Given the description of an element on the screen output the (x, y) to click on. 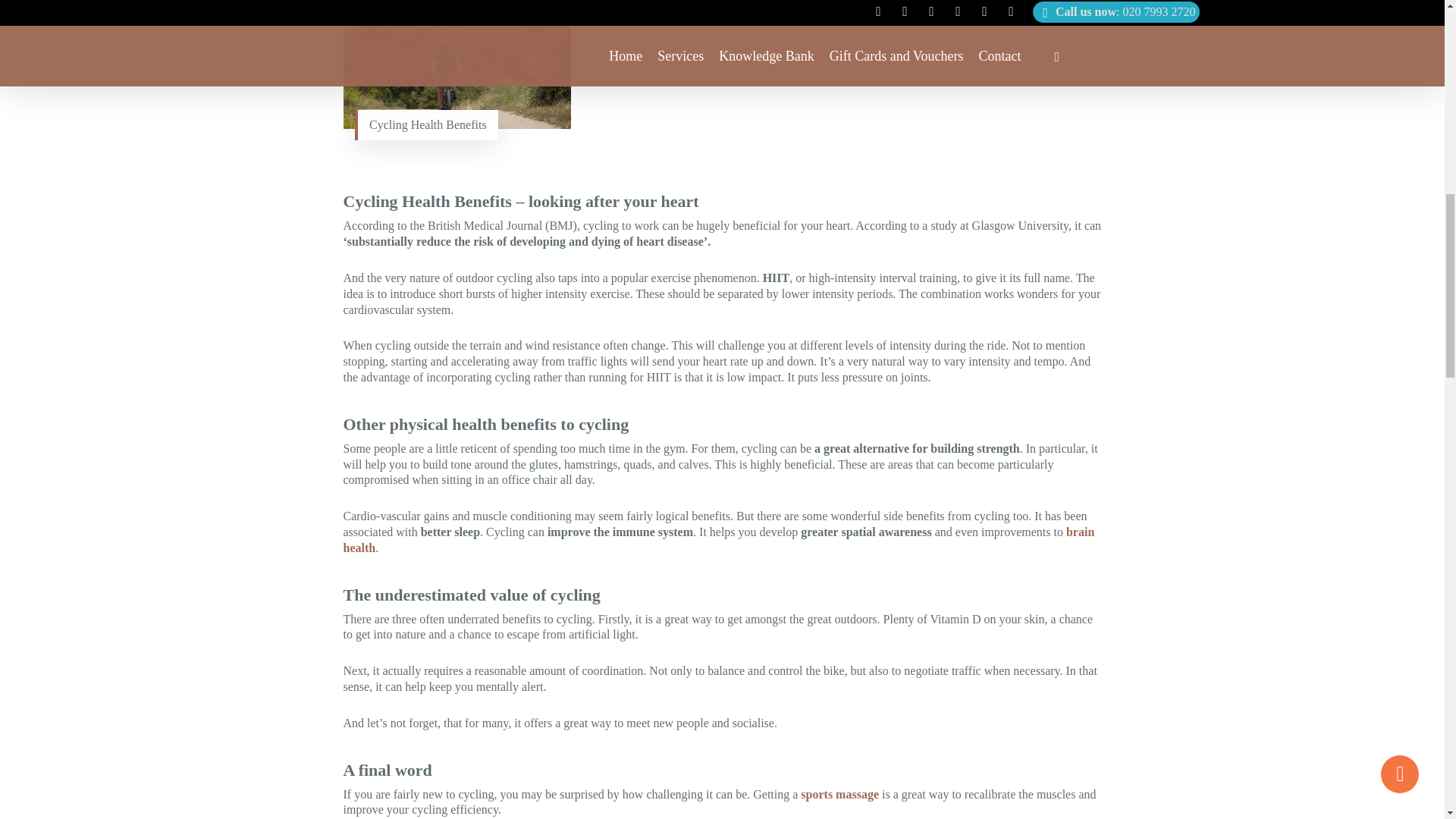
brain health (718, 539)
sports massage (839, 793)
